Given the description of an element on the screen output the (x, y) to click on. 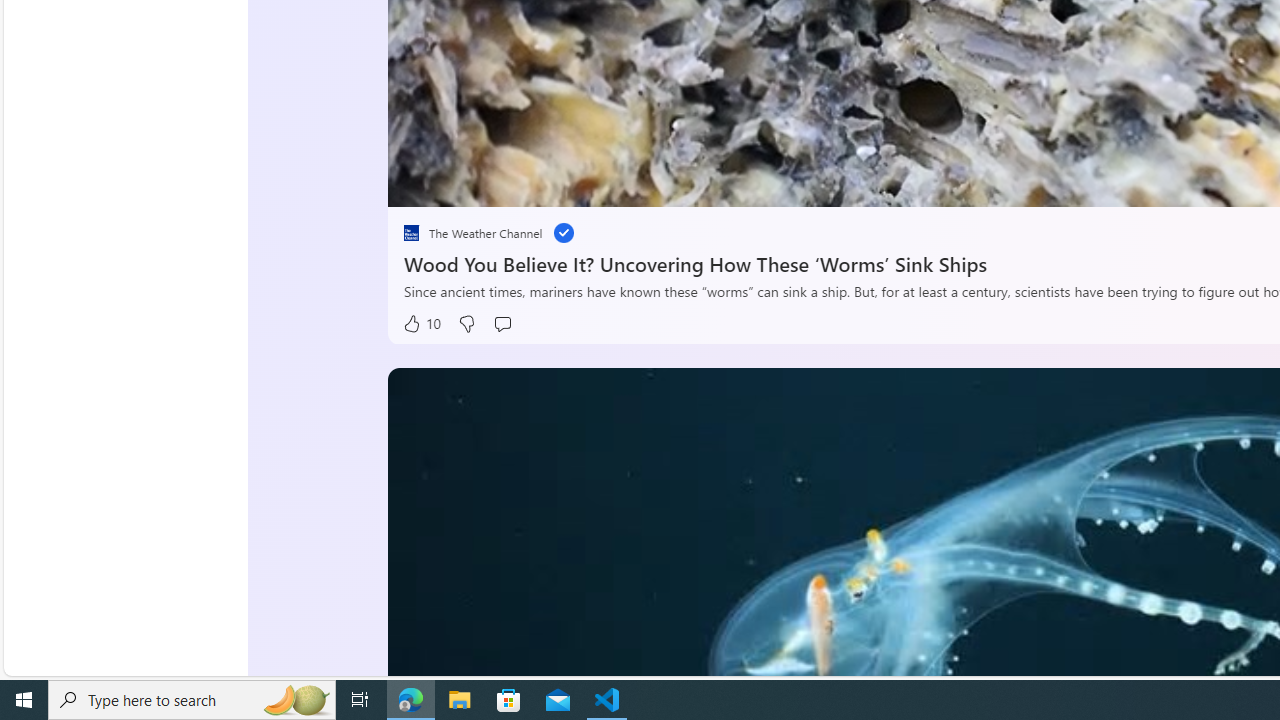
Start the conversation (503, 324)
Microsoft Store (509, 699)
Start (24, 699)
Seek Back (457, 185)
10 Like (422, 324)
Visual Studio Code - 1 running window (607, 699)
To get missing image descriptions, open the context menu. (458, 182)
Seek Forward (497, 185)
Search highlights icon opens search home window (295, 699)
placeholder The Weather Channel (473, 232)
Task View (359, 699)
Microsoft Edge - 1 running window (411, 699)
